Given the description of an element on the screen output the (x, y) to click on. 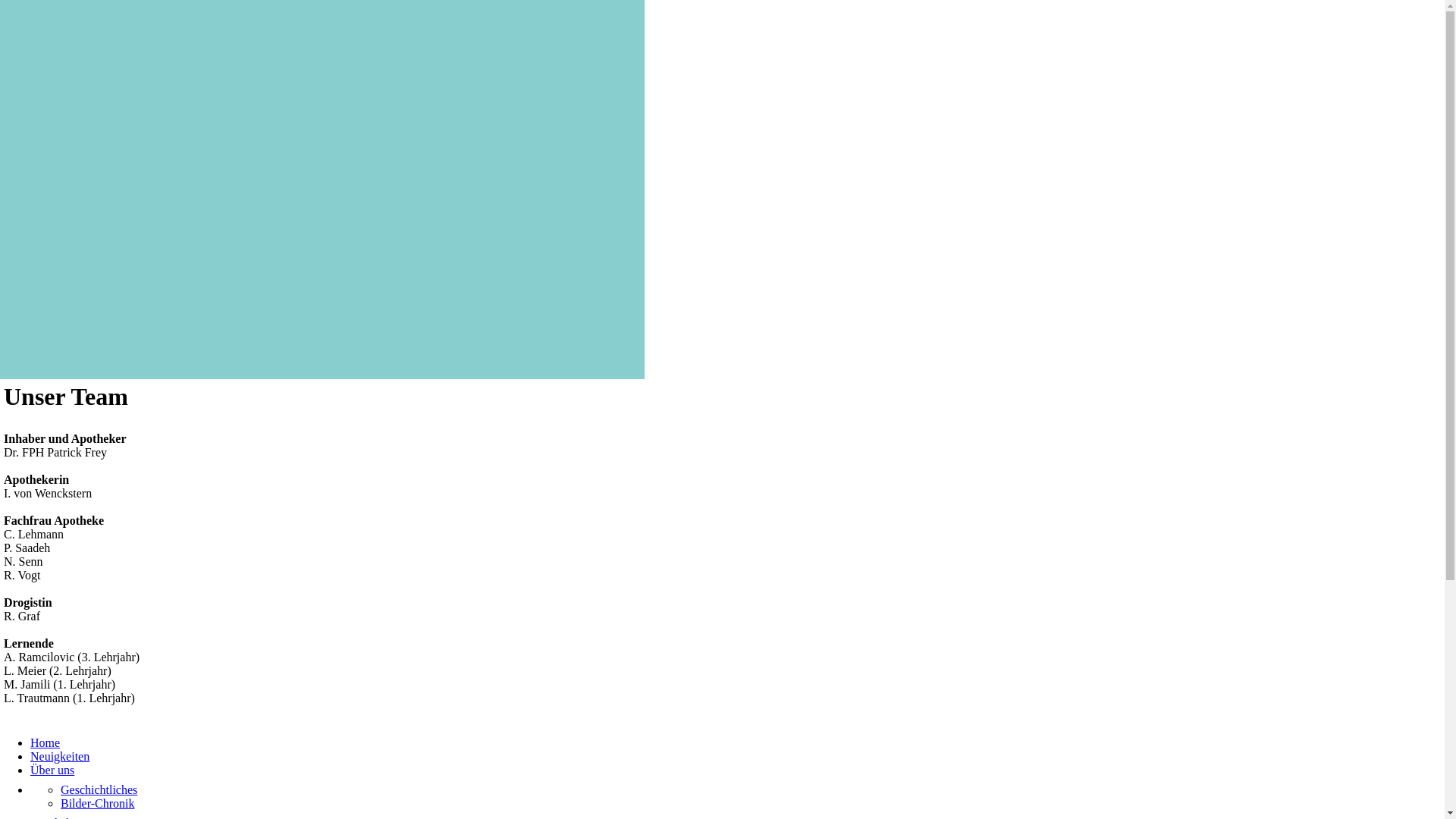
Neuigkeiten Element type: text (59, 755)
Home Element type: text (44, 742)
Geschichtliches Element type: text (98, 789)
Bilder-Chronik Element type: text (97, 803)
